Given the description of an element on the screen output the (x, y) to click on. 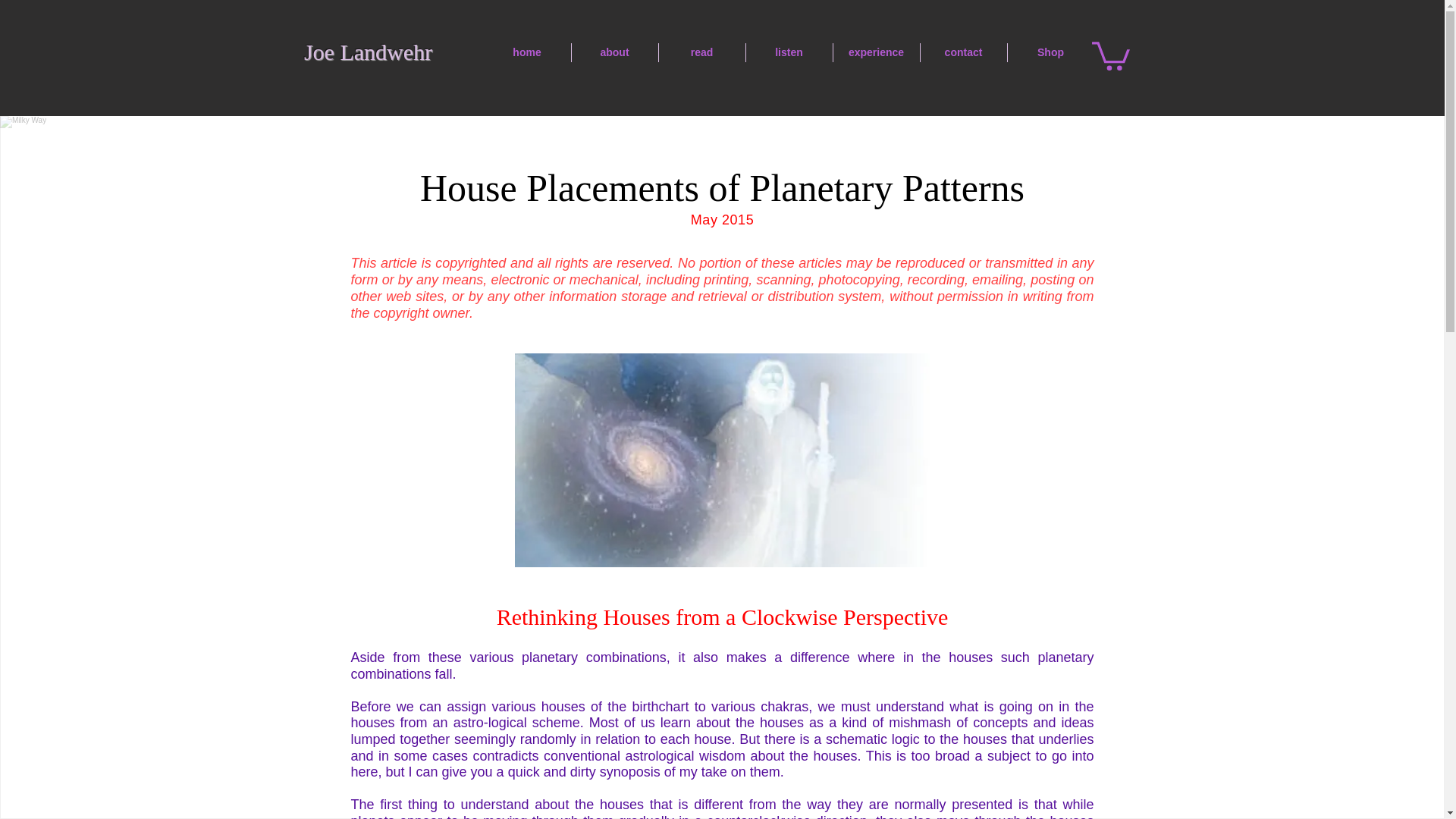
listen (788, 52)
read (701, 52)
contact (963, 52)
Tracking the Soul.jpg (720, 459)
experience (875, 52)
about (615, 52)
home (526, 52)
Shop (1050, 52)
